Given the description of an element on the screen output the (x, y) to click on. 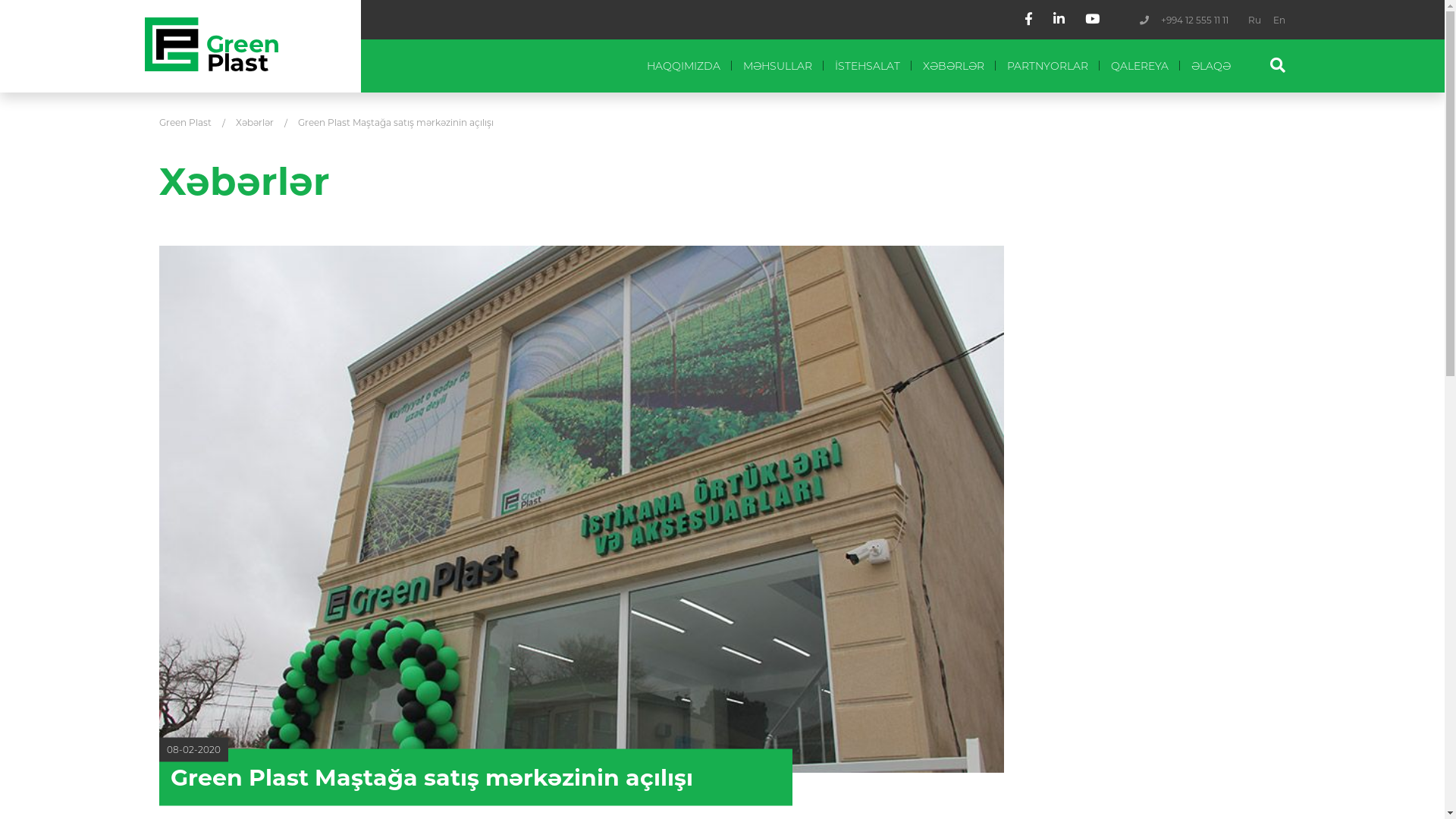
PARTNYORLAR Element type: text (1047, 65)
HAQQIMIZDA Element type: text (683, 65)
Green Plast Element type: text (185, 122)
+994 12 555 11 11 Element type: text (1194, 19)
Ru Element type: text (1254, 19)
QALEREYA Element type: text (1139, 65)
En Element type: text (1279, 19)
